Given the description of an element on the screen output the (x, y) to click on. 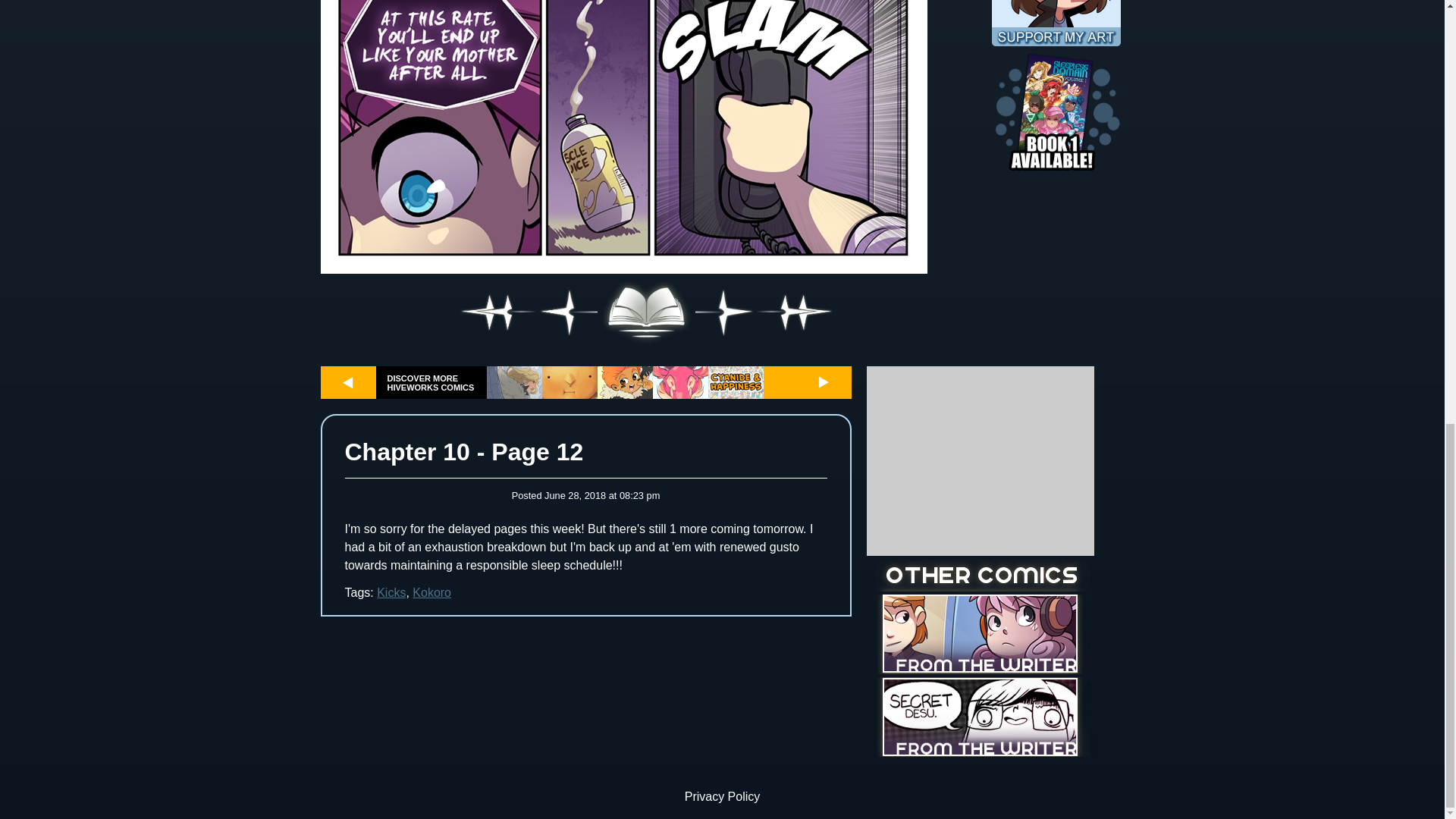
DISCOVER MORE HIVEWORKS COMICS (430, 382)
